Given the description of an element on the screen output the (x, y) to click on. 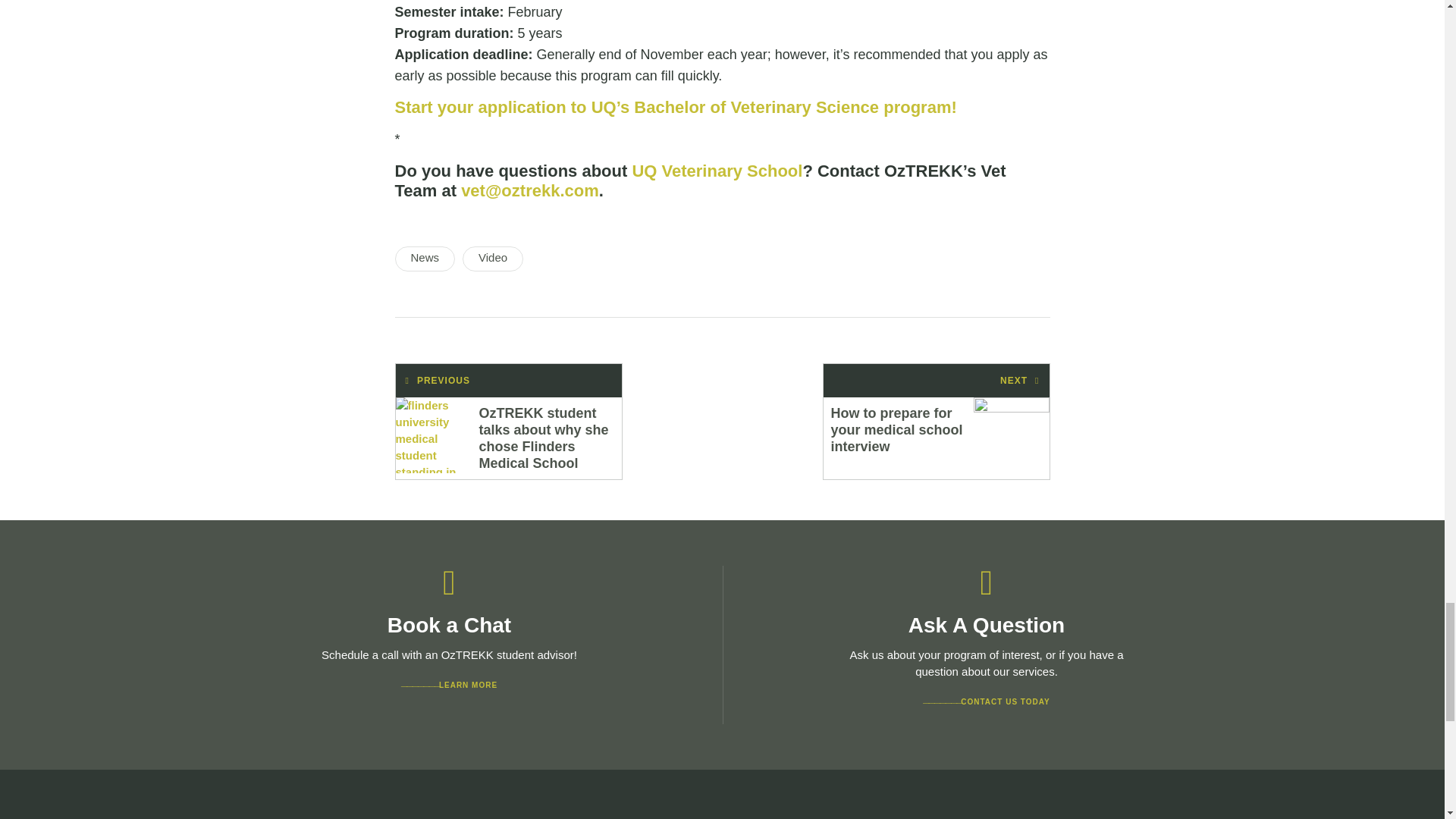
Learn more about UQ Veterinary School in Australia (716, 170)
